Given the description of an element on the screen output the (x, y) to click on. 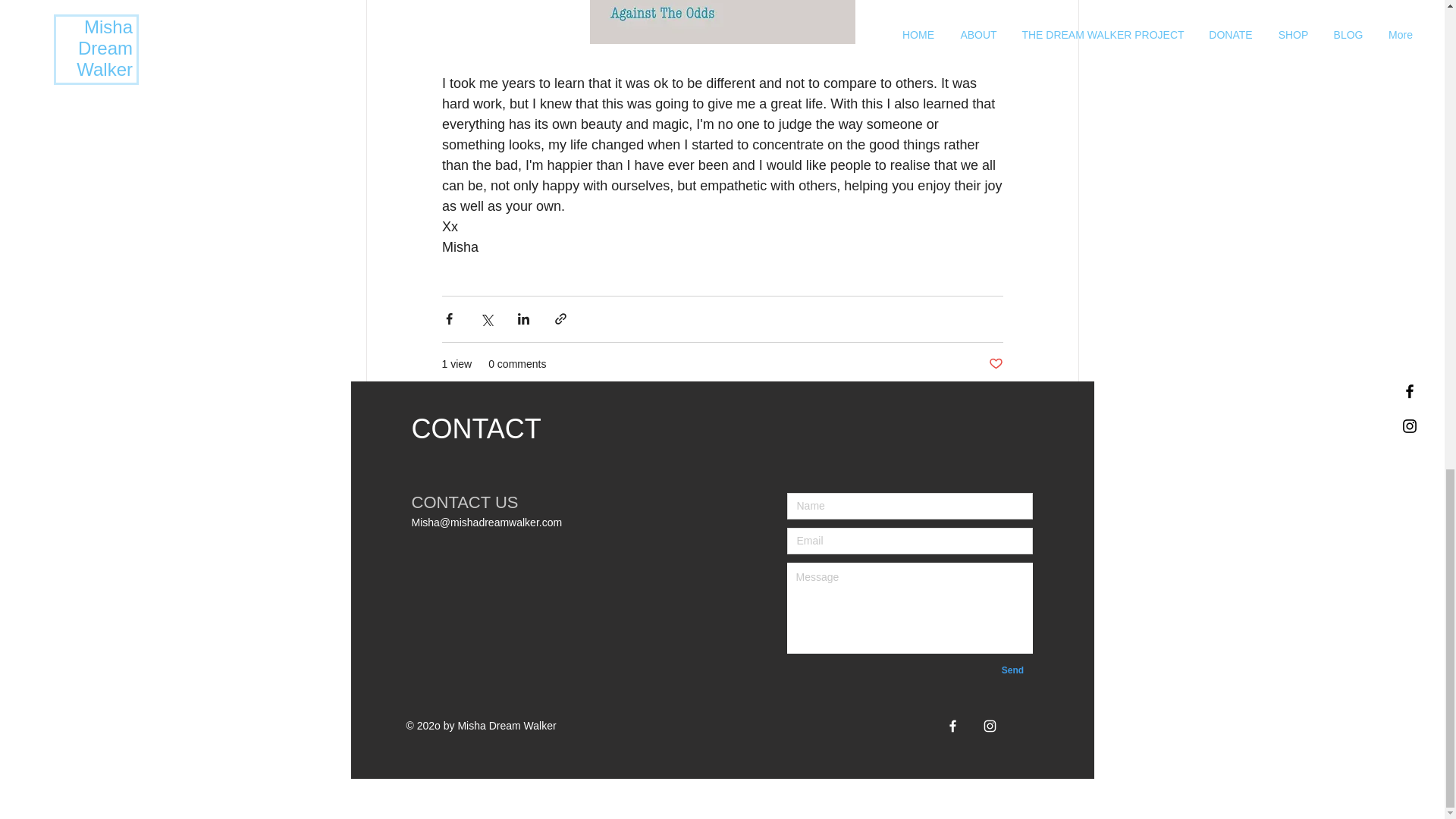
5 tips for living with Arthrogryposis (800, 683)
See All (721, 631)
0 (1061, 446)
Things I wish I knew earlier about life and Arthrogryposis (931, 683)
2 (476, 631)
Post not marked as liked (691, 683)
Send (1046, 683)
0 (558, 683)
